Given the description of an element on the screen output the (x, y) to click on. 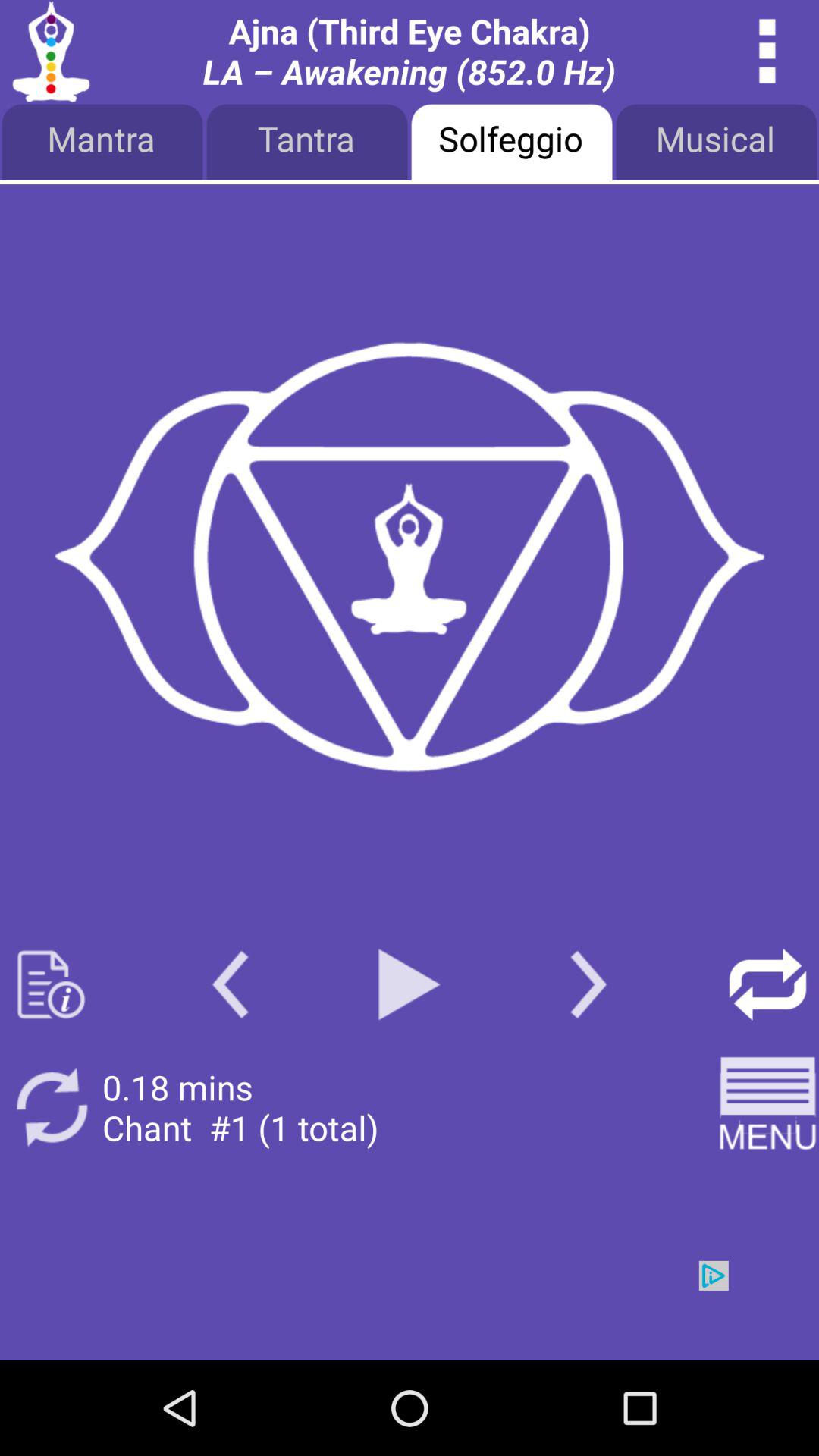
arrow button (767, 984)
